Given the description of an element on the screen output the (x, y) to click on. 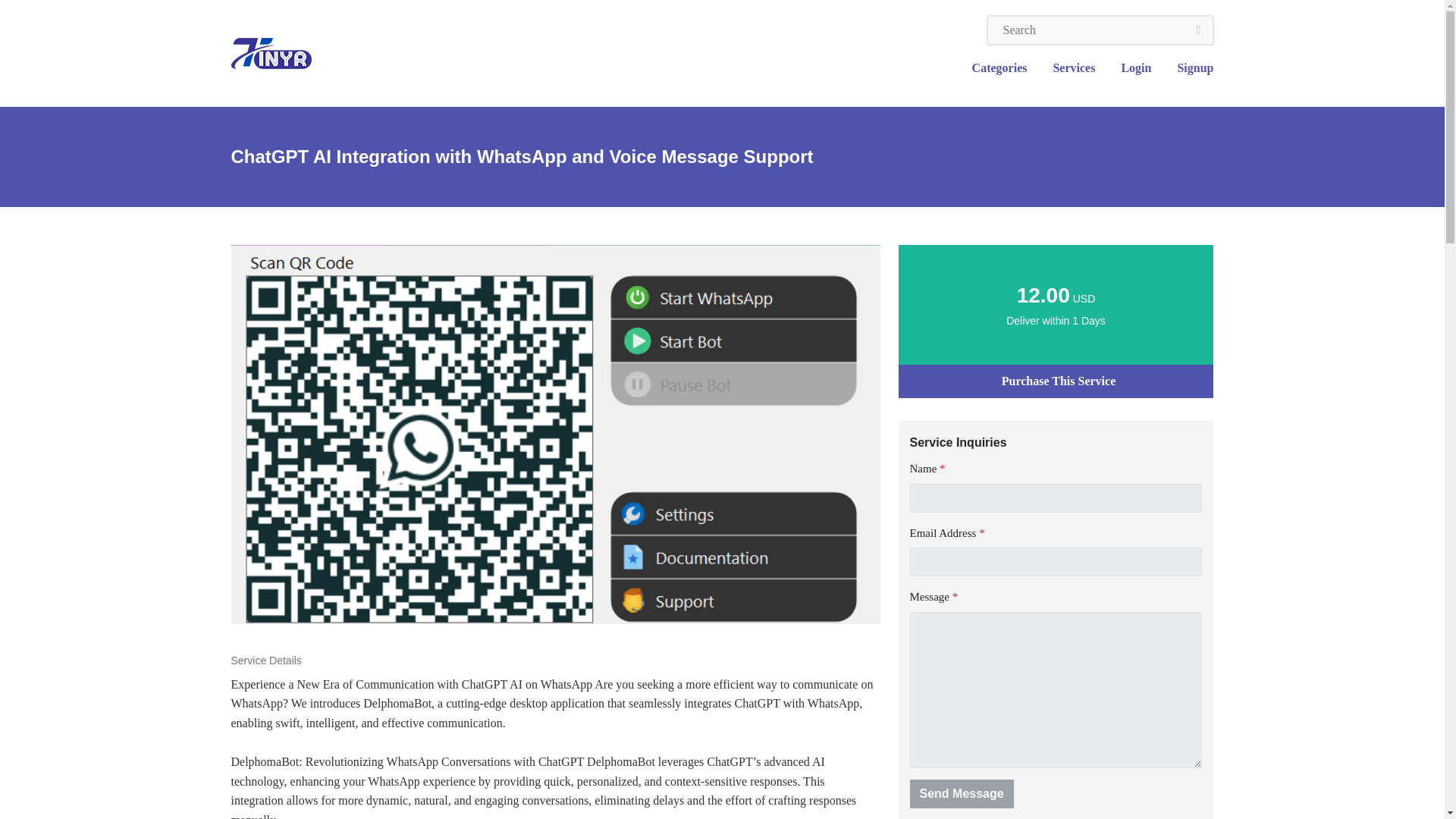
Signup (1189, 67)
Login (1135, 67)
Send Message (961, 793)
Purchase This Service (1055, 381)
Categories (999, 67)
Services (1073, 67)
